Given the description of an element on the screen output the (x, y) to click on. 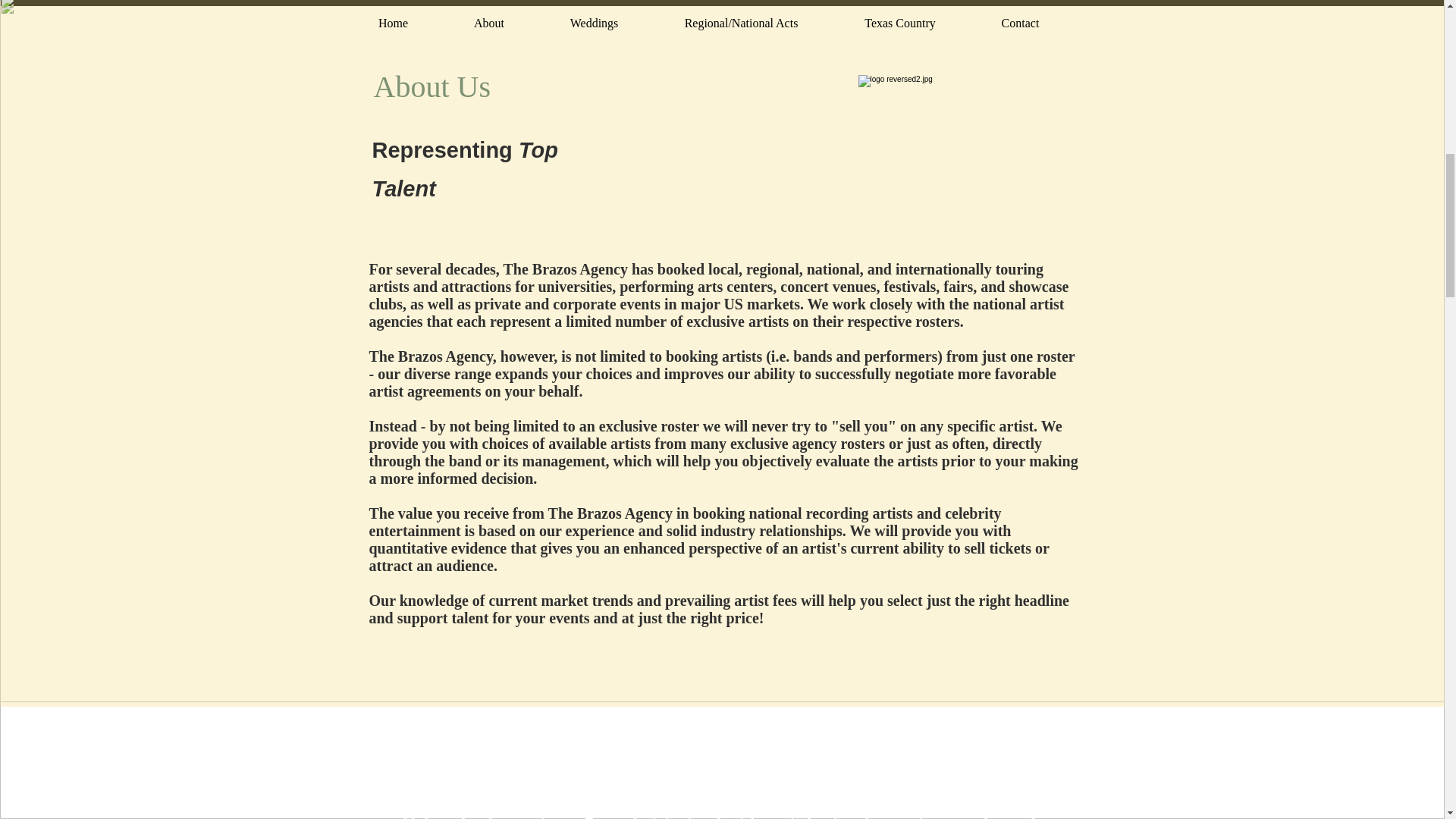
Texas Country (909, 725)
About (498, 725)
Texas Country (899, 23)
Contact (1020, 23)
Weddings (593, 23)
Home (393, 23)
About (489, 23)
Contact (1029, 725)
Weddings (604, 725)
Home (402, 725)
